Given the description of an element on the screen output the (x, y) to click on. 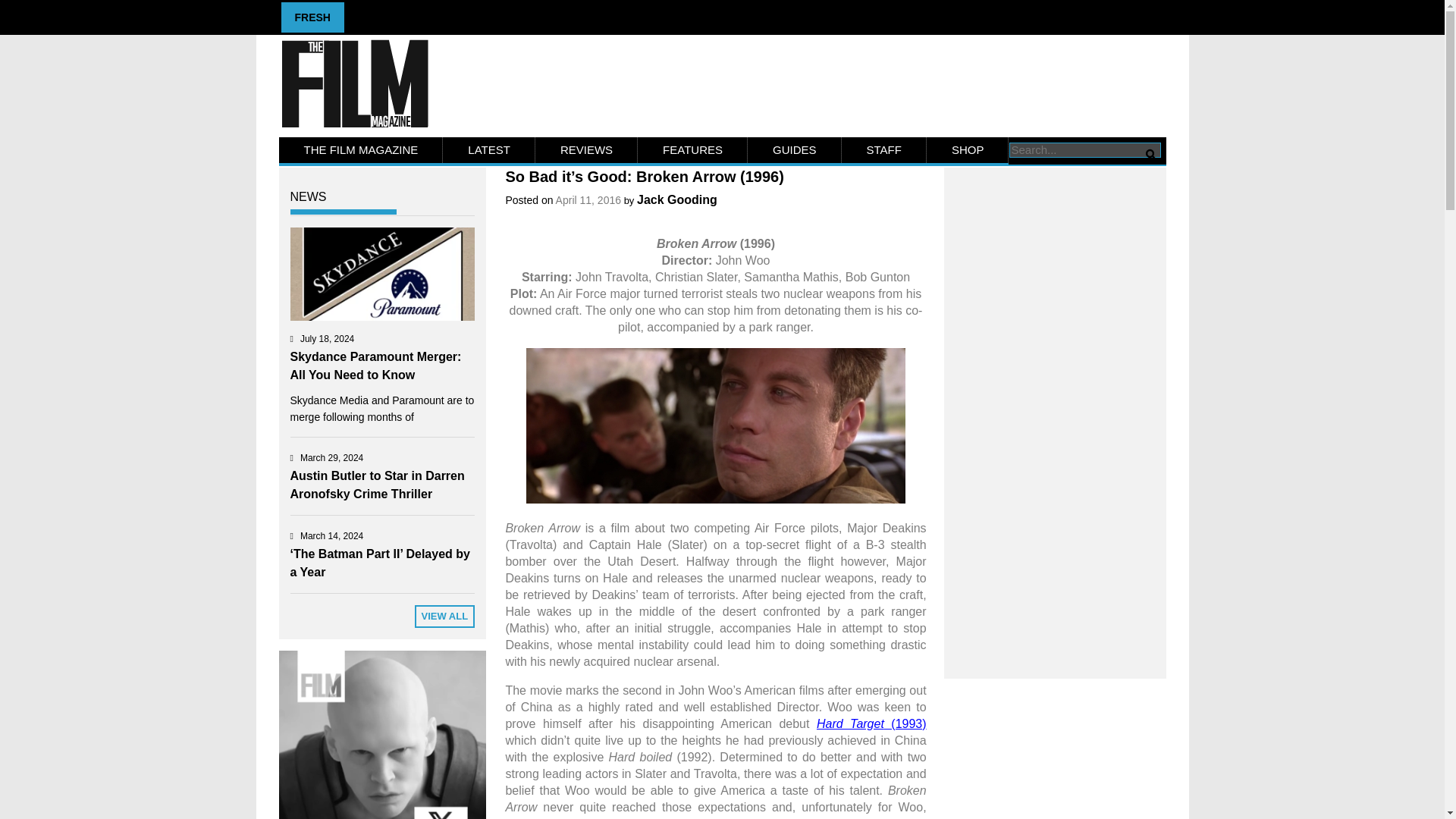
LATEST (488, 149)
REVIEWS (586, 149)
April 11, 2016 (588, 200)
Jack Gooding (677, 199)
THE FILM MAGAZINE (361, 149)
GUIDES (794, 149)
STAFF (883, 149)
FEATURES (692, 149)
SHOP (967, 149)
